Given the description of an element on the screen output the (x, y) to click on. 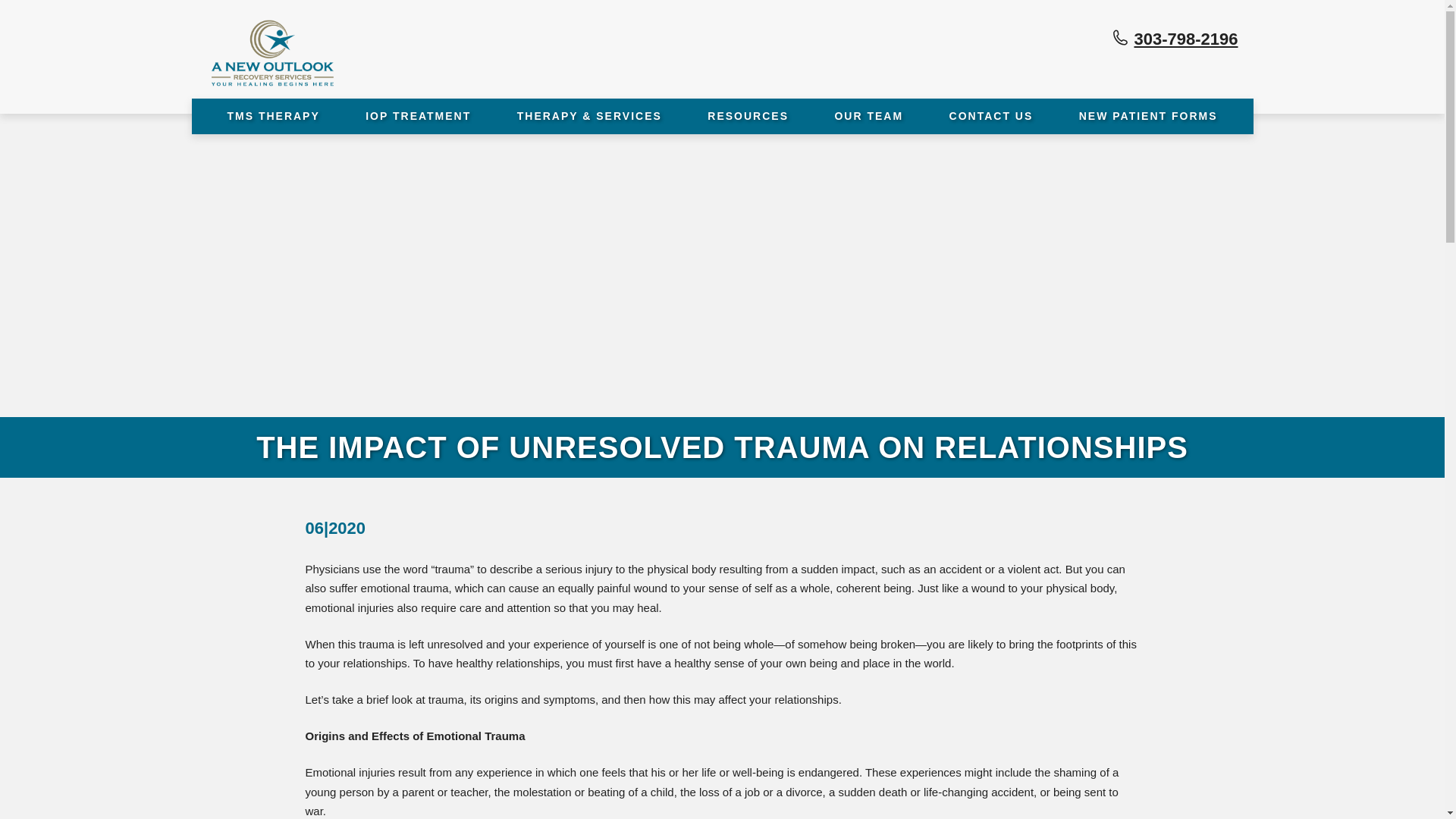
OUR TEAM (869, 116)
NEW PATIENT FORMS (1148, 116)
TMS THERAPY (272, 116)
303-798-2196 (1185, 38)
RESOURCES (748, 116)
IOP TREATMENT (418, 116)
CONTACT US (991, 116)
